Given the description of an element on the screen output the (x, y) to click on. 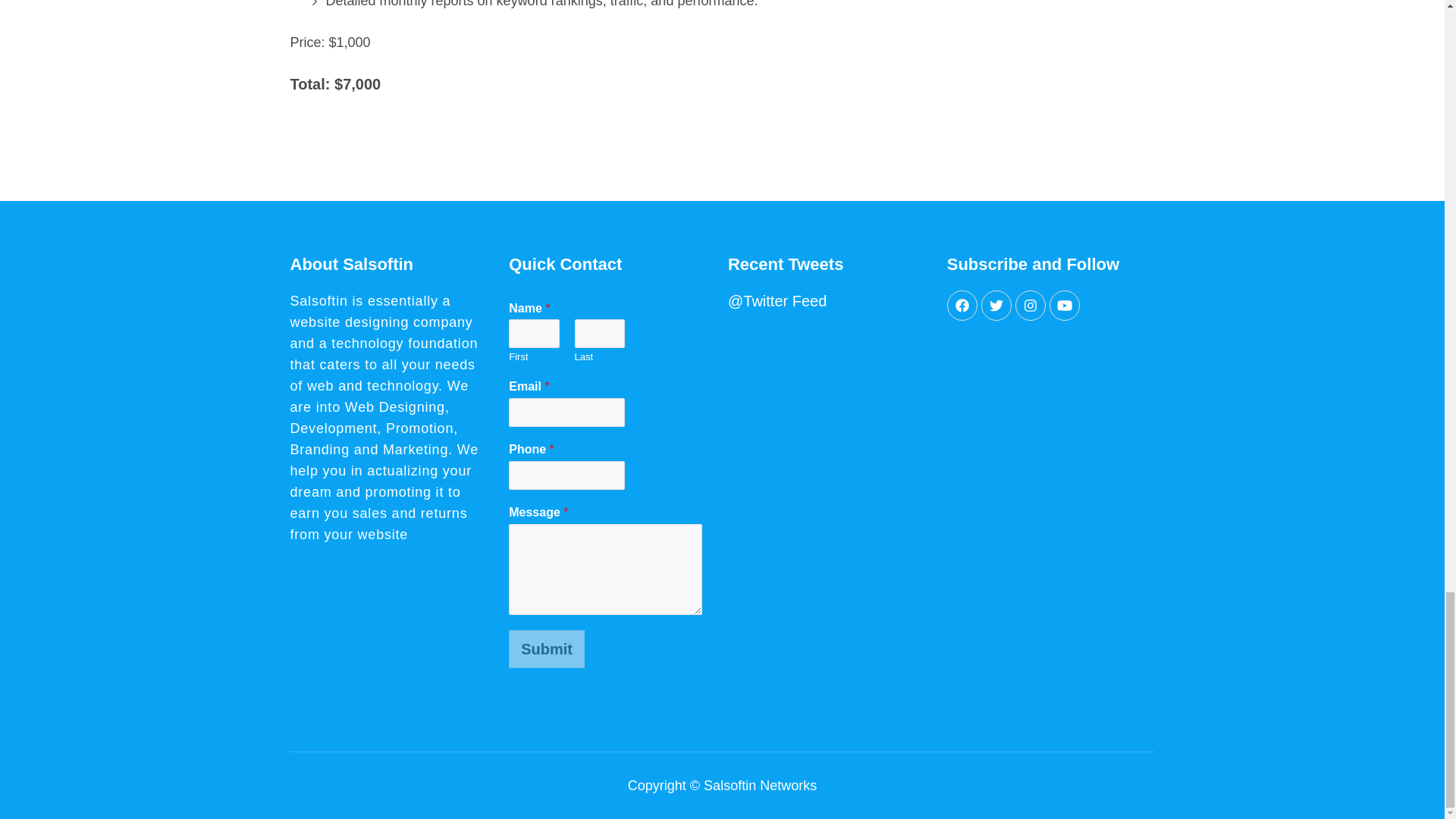
facebook (961, 305)
instagram (1029, 305)
youtube (1064, 305)
twitter (996, 305)
